Given the description of an element on the screen output the (x, y) to click on. 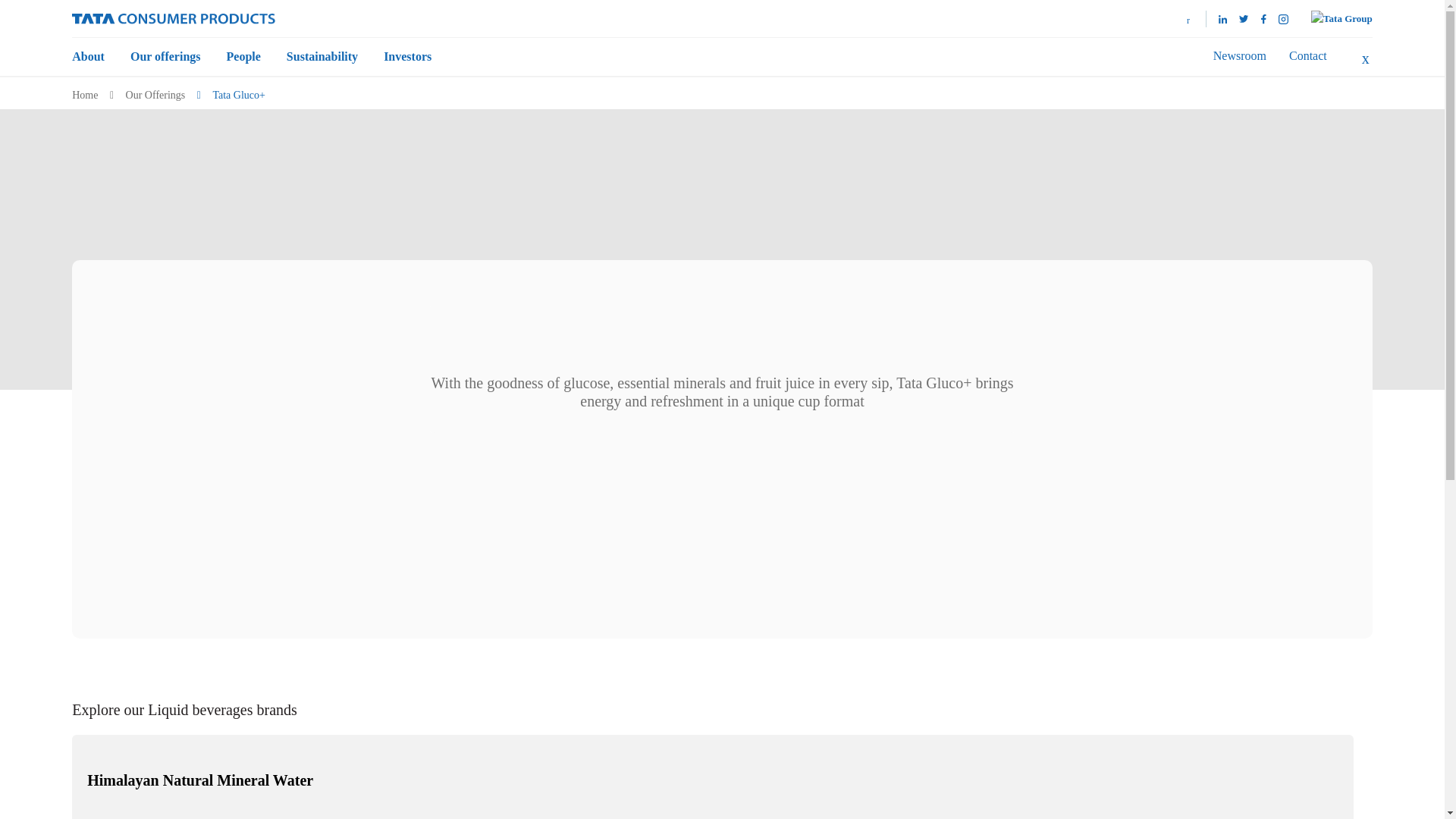
Home (173, 16)
Our offerings (165, 56)
Our brand websites (1182, 18)
Tata Logo (1342, 17)
